Given the description of an element on the screen output the (x, y) to click on. 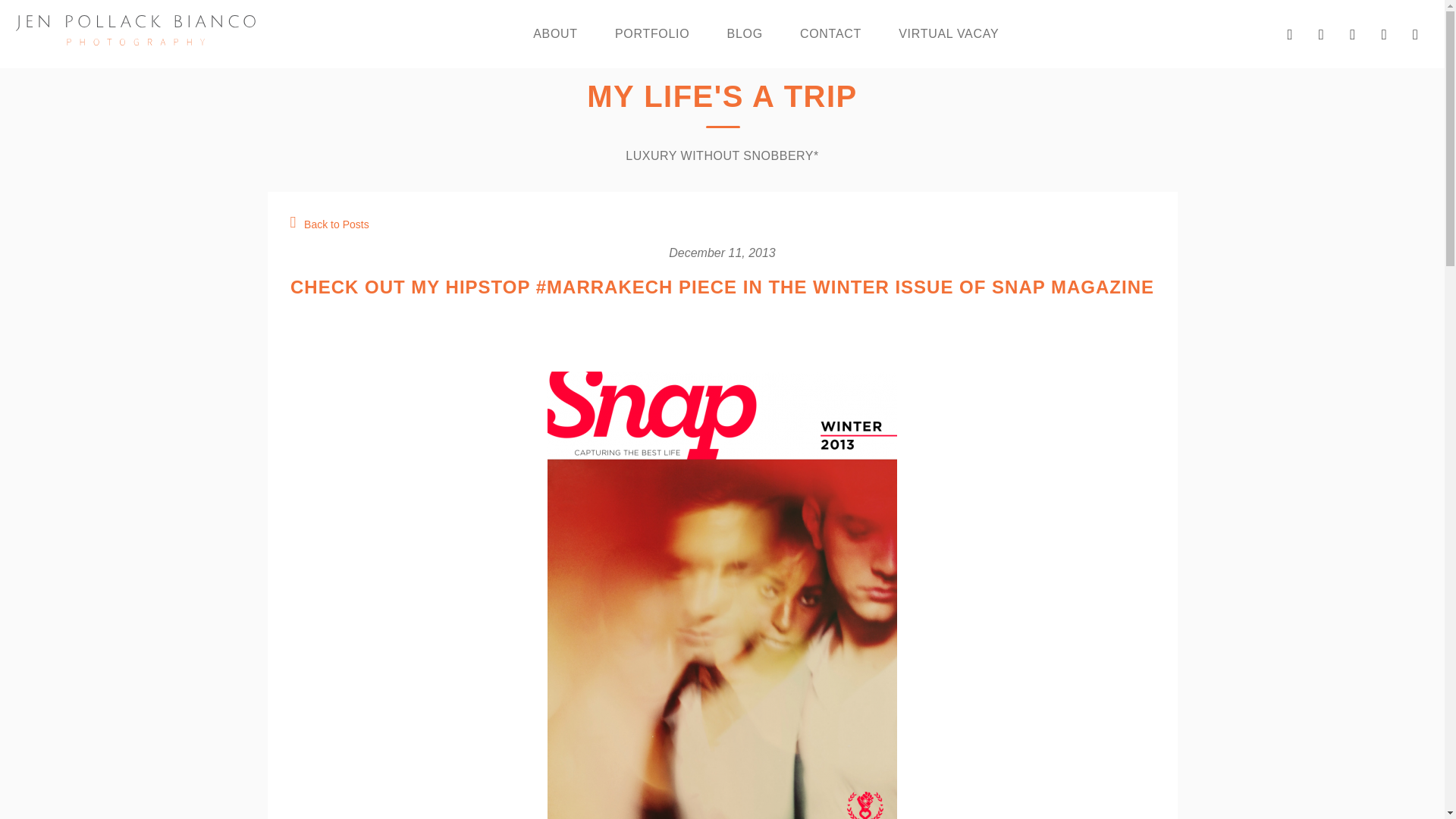
ABOUT (555, 34)
VIRTUAL VACAY (948, 34)
BLOG (744, 34)
Back to Posts (328, 224)
CONTACT (830, 34)
PORTFOLIO (651, 34)
